Given the description of an element on the screen output the (x, y) to click on. 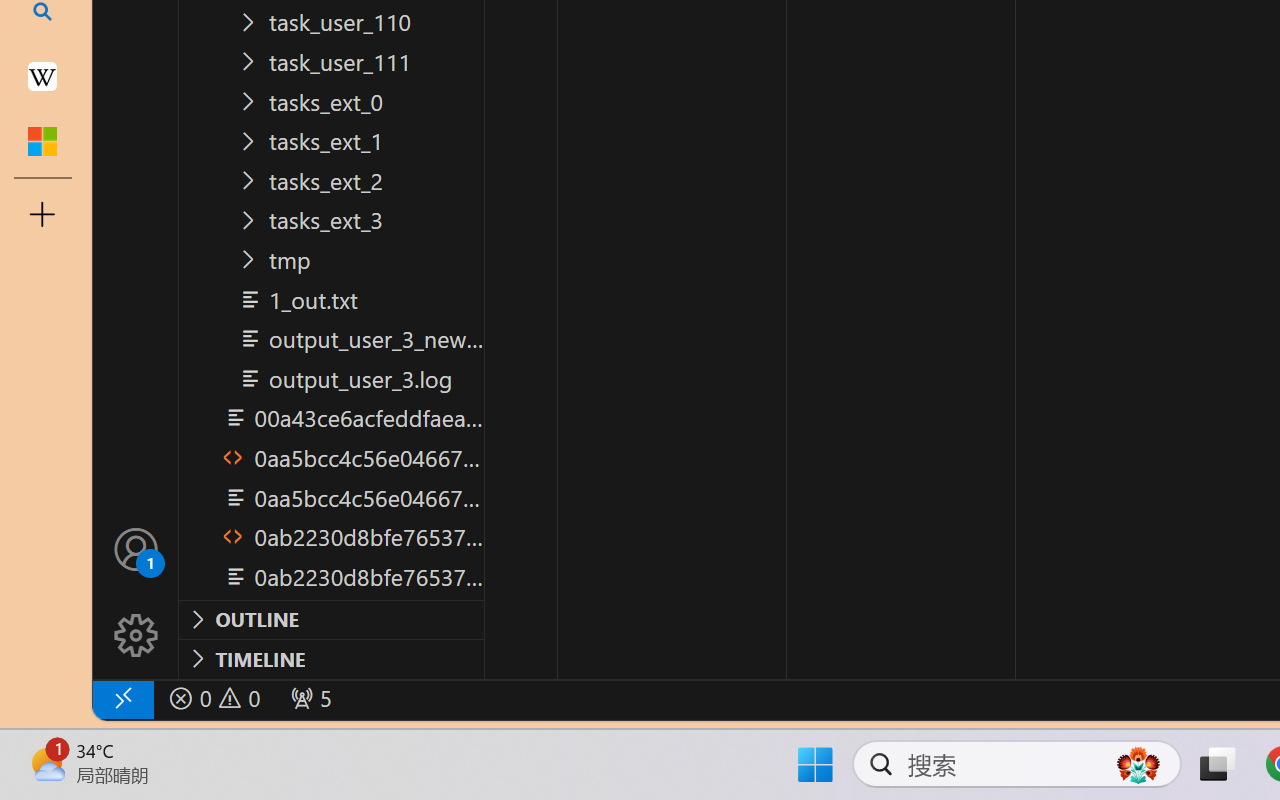
Manage (135, 635)
Forwarded Ports: 36301, 47065, 38781, 45817, 50331 (308, 698)
remote (122, 698)
No Problems (212, 698)
Earth - Wikipedia (42, 75)
Timeline Section (331, 658)
Accounts - Sign in requested (135, 548)
Outline Section (331, 619)
